Given the description of an element on the screen output the (x, y) to click on. 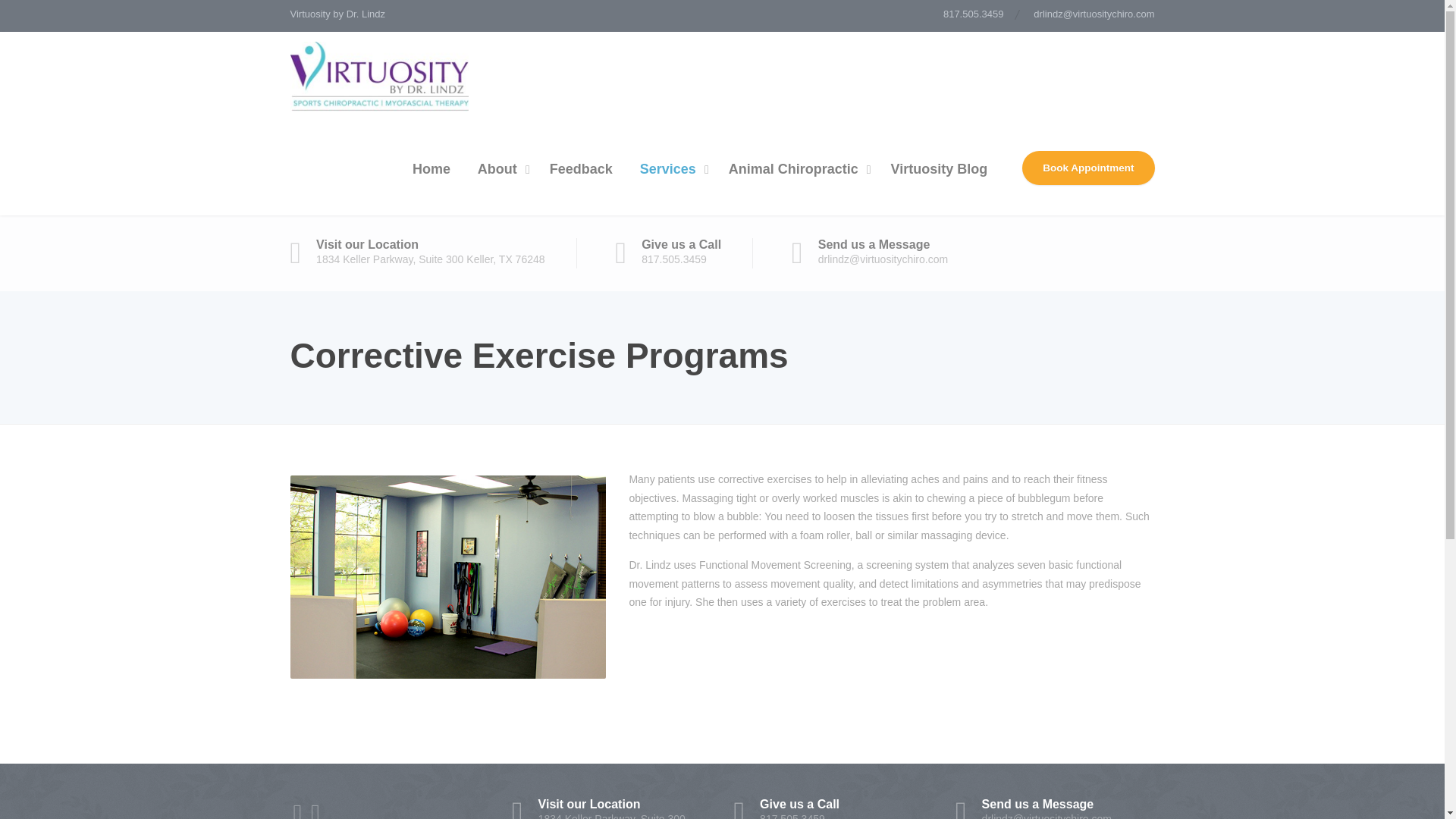
Feedback (580, 168)
Virtuosity Blog (939, 168)
Services (833, 808)
817.505.3459 (670, 168)
Book Appointment (973, 15)
Animal Chiropractic (1088, 167)
Virtuosity (796, 168)
